Given the description of an element on the screen output the (x, y) to click on. 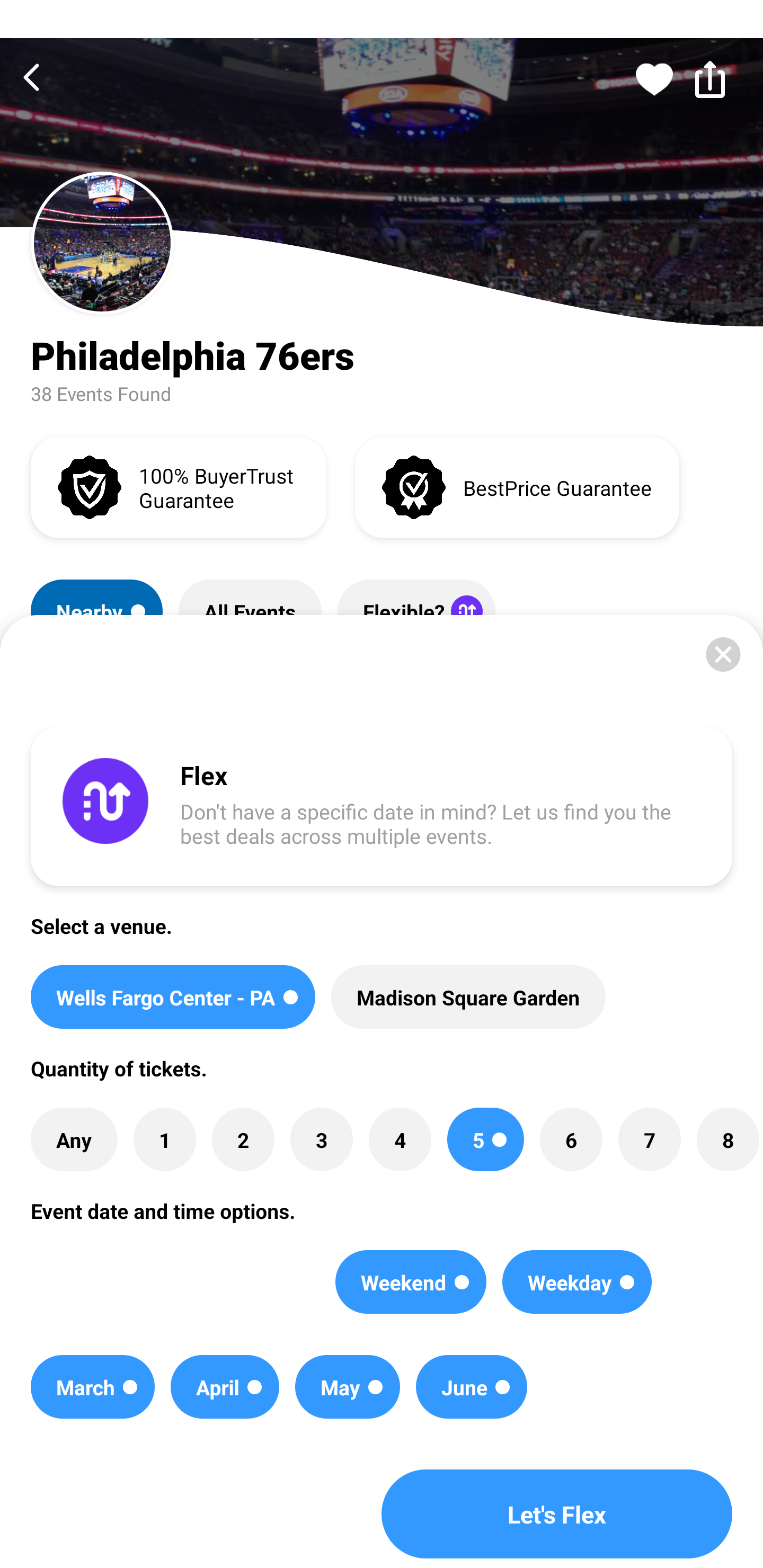
Wells Fargo Center - PA (172, 996)
Madison Square Garden (468, 996)
Any (73, 1139)
1 (164, 1139)
2 (243, 1139)
3 (321, 1139)
4 (399, 1139)
5 (485, 1139)
6 (571, 1139)
7 (649, 1139)
8 (727, 1139)
Weekend (410, 1281)
Weekday (576, 1281)
March (92, 1386)
April (224, 1386)
May (347, 1386)
June (471, 1386)
Let's Flex (556, 1513)
